Given the description of an element on the screen output the (x, y) to click on. 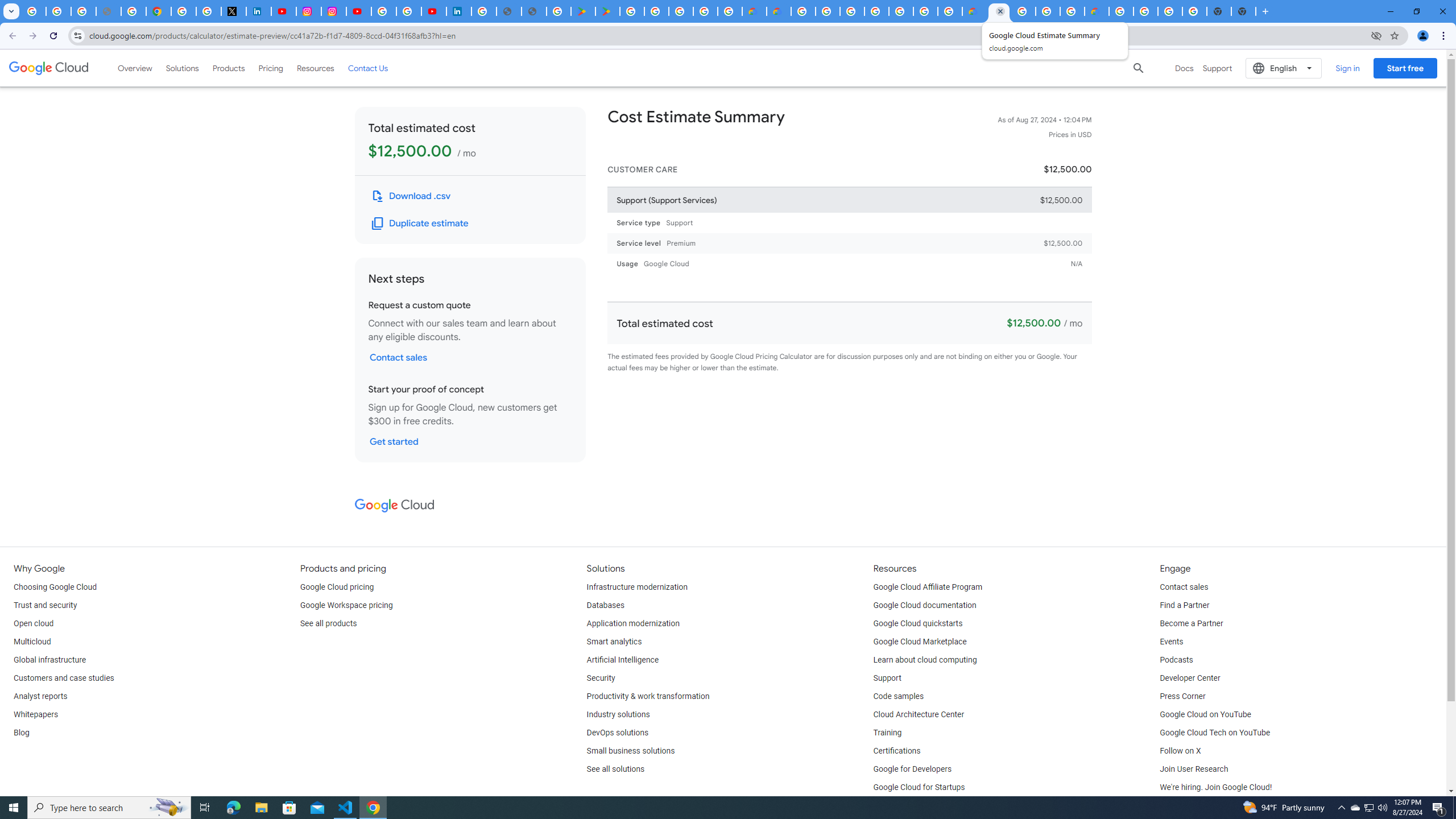
New Tab (1242, 11)
Google Cloud quickstarts (917, 624)
Google Cloud Platform (925, 11)
Google Cloud (393, 505)
Choosing Google Cloud (55, 587)
User Details (533, 11)
Productivity & work transformation (648, 696)
Sign in - Google Accounts (383, 11)
